Given the description of an element on the screen output the (x, y) to click on. 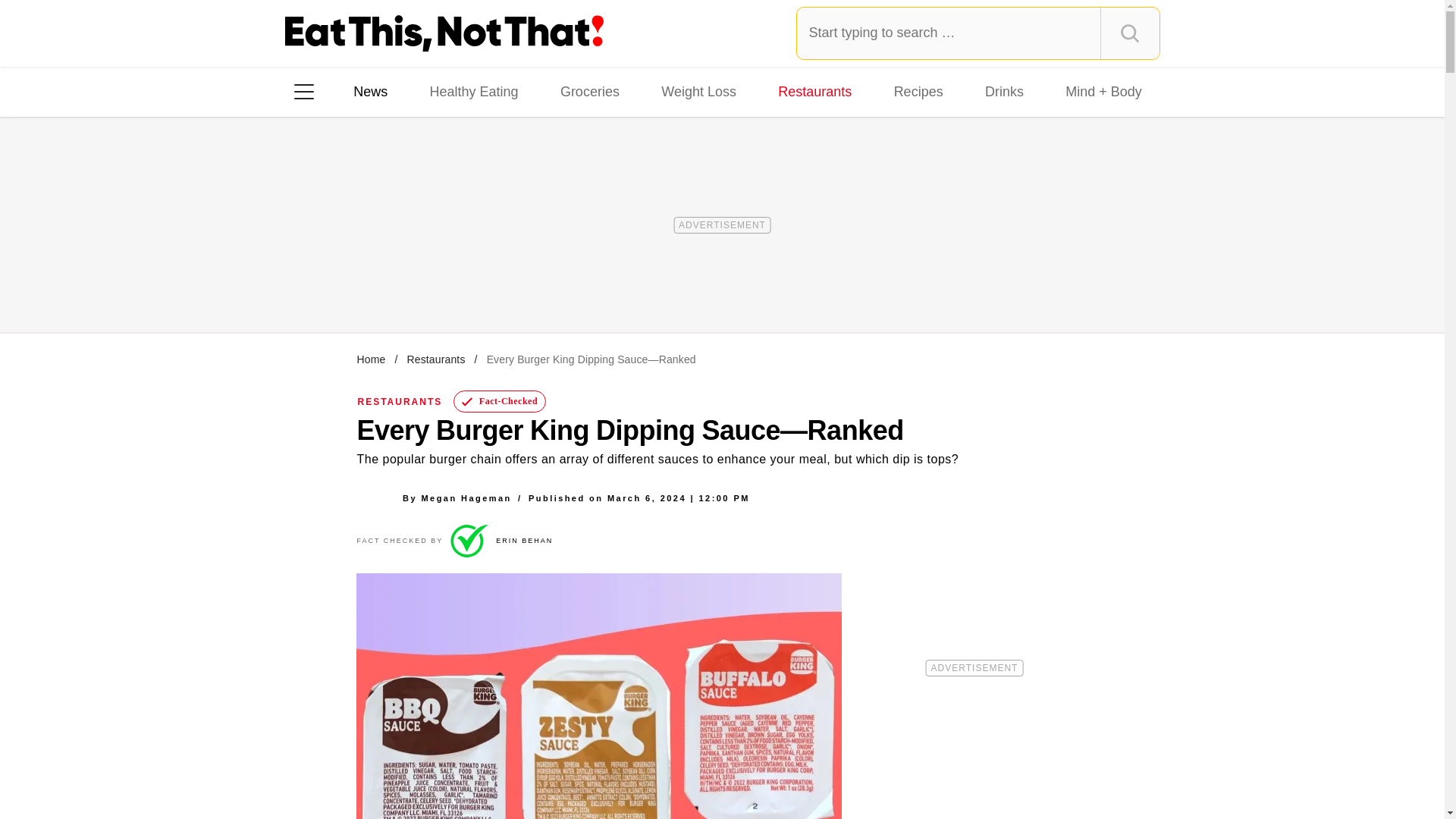
TikTok (399, 287)
News (370, 91)
Facebook (314, 287)
Recipes (918, 91)
RESTAURANTS (400, 401)
Groceries (590, 91)
Weight Loss (698, 91)
TikTok (399, 287)
Restaurants (814, 91)
Instagram (357, 287)
